Given the description of an element on the screen output the (x, y) to click on. 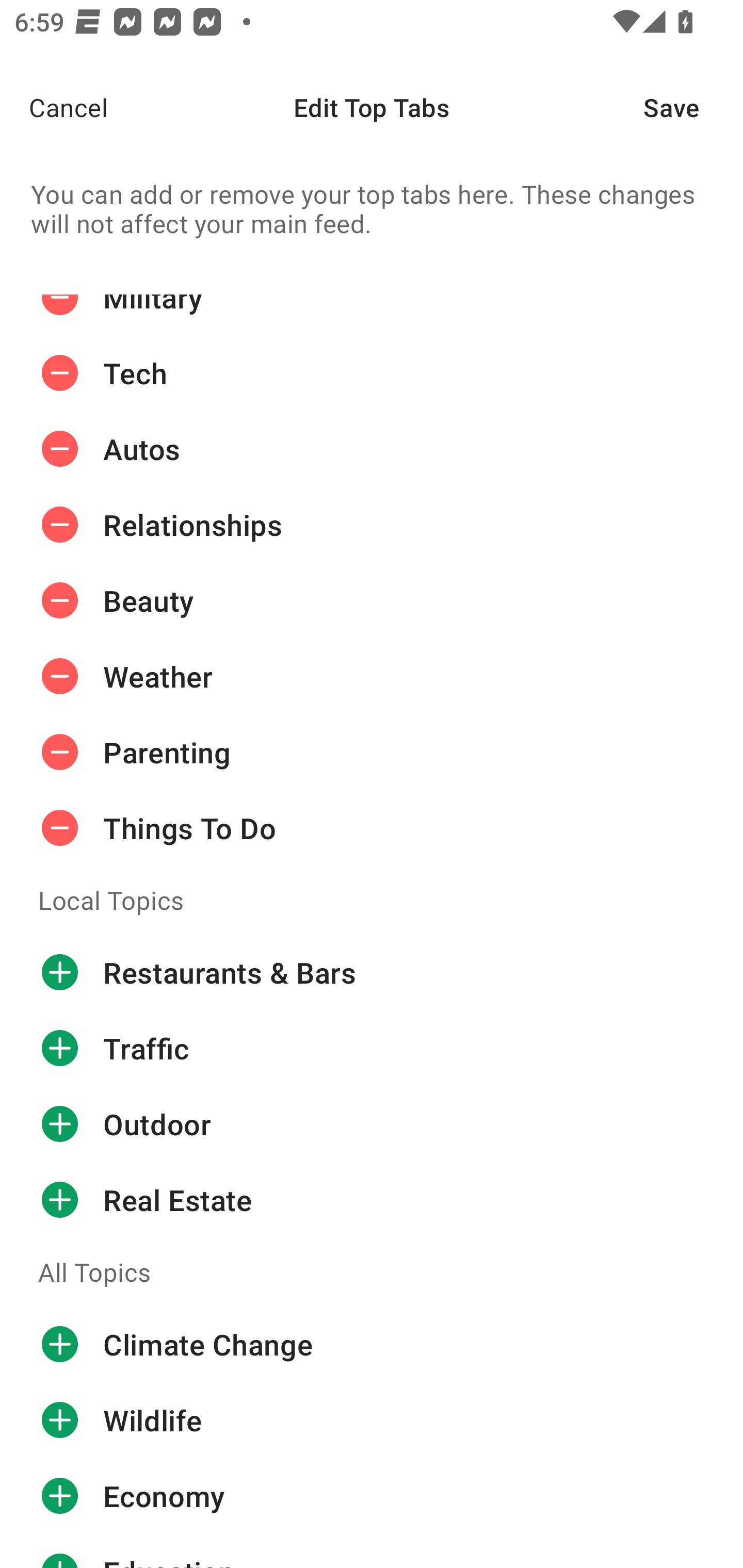
Cancel (53, 106)
Save (693, 106)
Tech (371, 372)
Autos (371, 448)
Relationships (371, 524)
Beauty (371, 600)
Weather (371, 676)
Parenting (371, 752)
Things To Do (371, 827)
Restaurants & Bars (371, 971)
Traffic (371, 1047)
Outdoor (371, 1123)
Real Estate (371, 1199)
Climate Change (371, 1344)
Wildlife (371, 1420)
Economy (371, 1495)
